Given the description of an element on the screen output the (x, y) to click on. 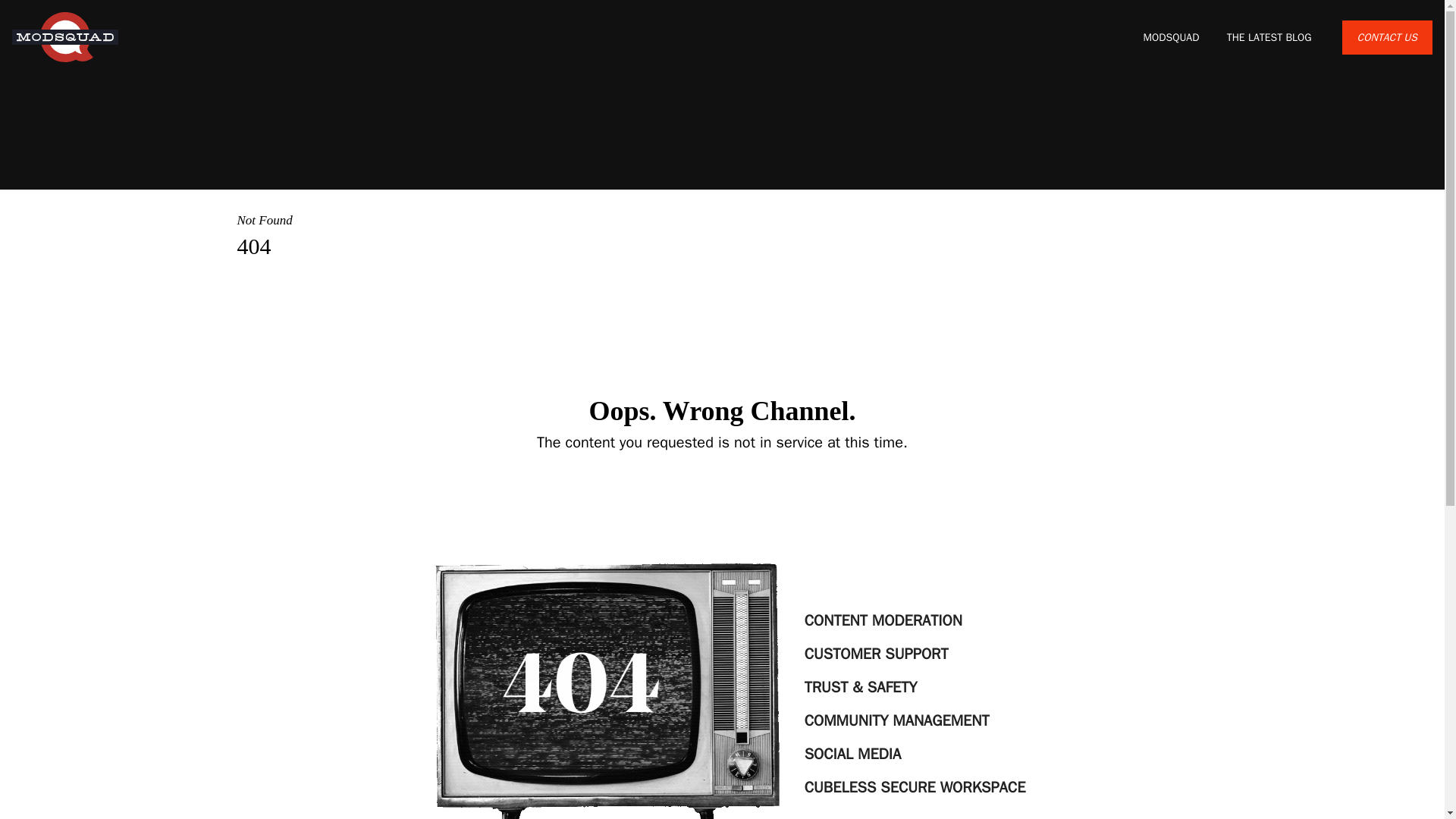
CUSTOMER SUPPORT (914, 654)
SOCIAL MEDIA (914, 754)
CONTACT US (1387, 37)
CONTENT MODERATION (914, 621)
MODSQUAD (1172, 37)
COMMUNITY MANAGEMENT (914, 720)
CUBELESS SECURE WORKSPACE (914, 787)
THE LATEST BLOG (1268, 37)
